Given the description of an element on the screen output the (x, y) to click on. 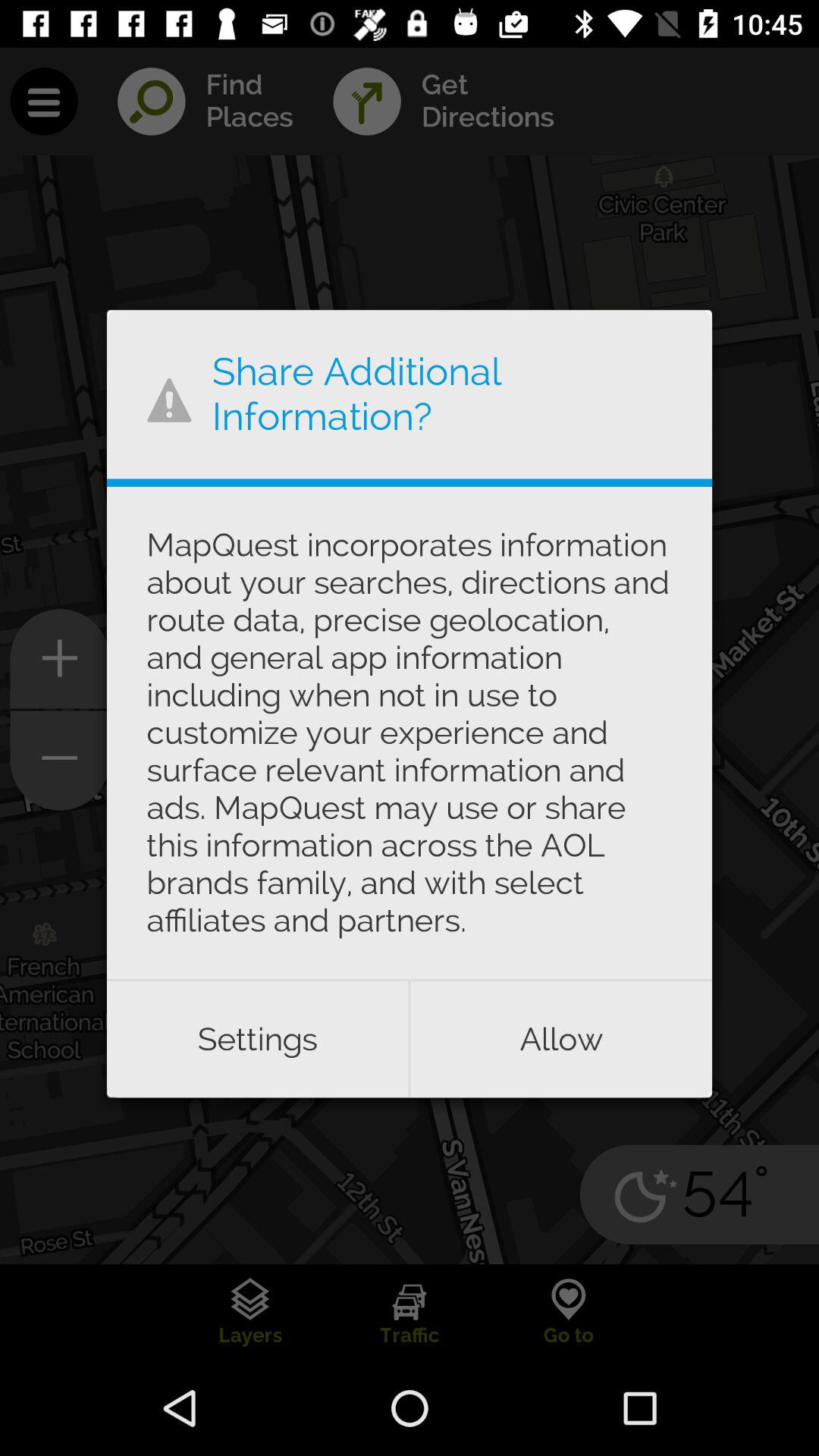
tap the icon at the bottom right corner (561, 1039)
